Given the description of an element on the screen output the (x, y) to click on. 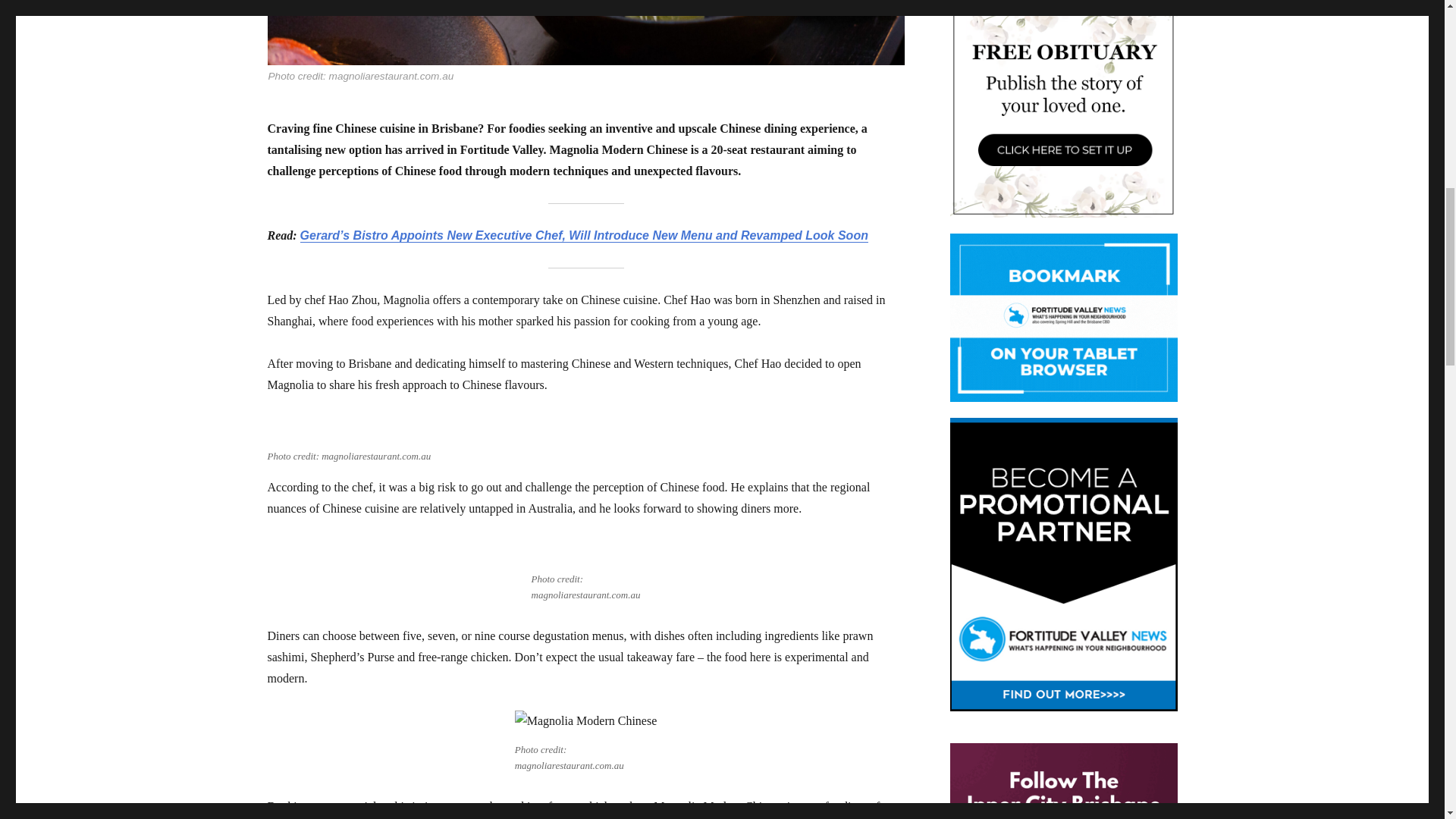
Photo credit: magnoliarestaurant.com.au (585, 43)
